Given the description of an element on the screen output the (x, y) to click on. 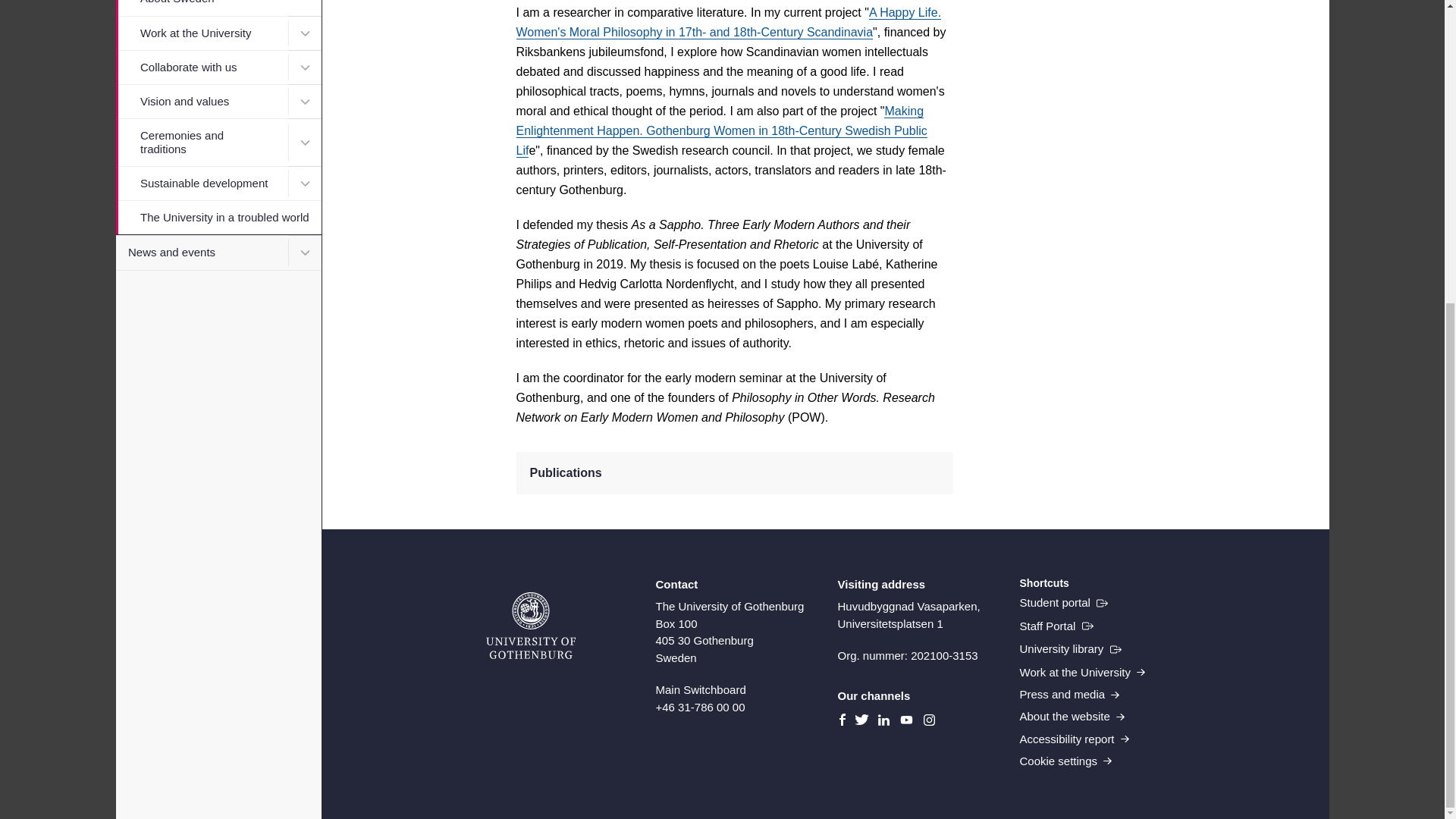
External link (1070, 649)
External link (1056, 626)
External link (1063, 602)
